Given the description of an element on the screen output the (x, y) to click on. 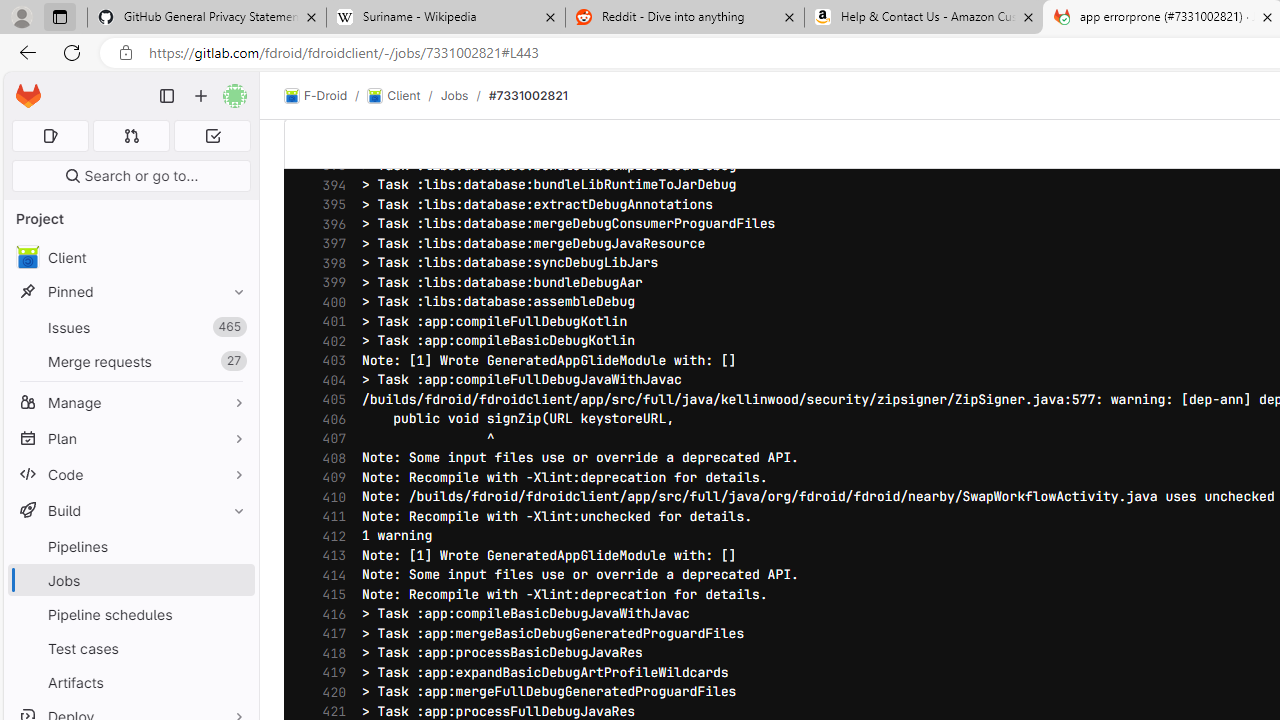
411 (329, 516)
Pin Artifacts (234, 682)
